Given the description of an element on the screen output the (x, y) to click on. 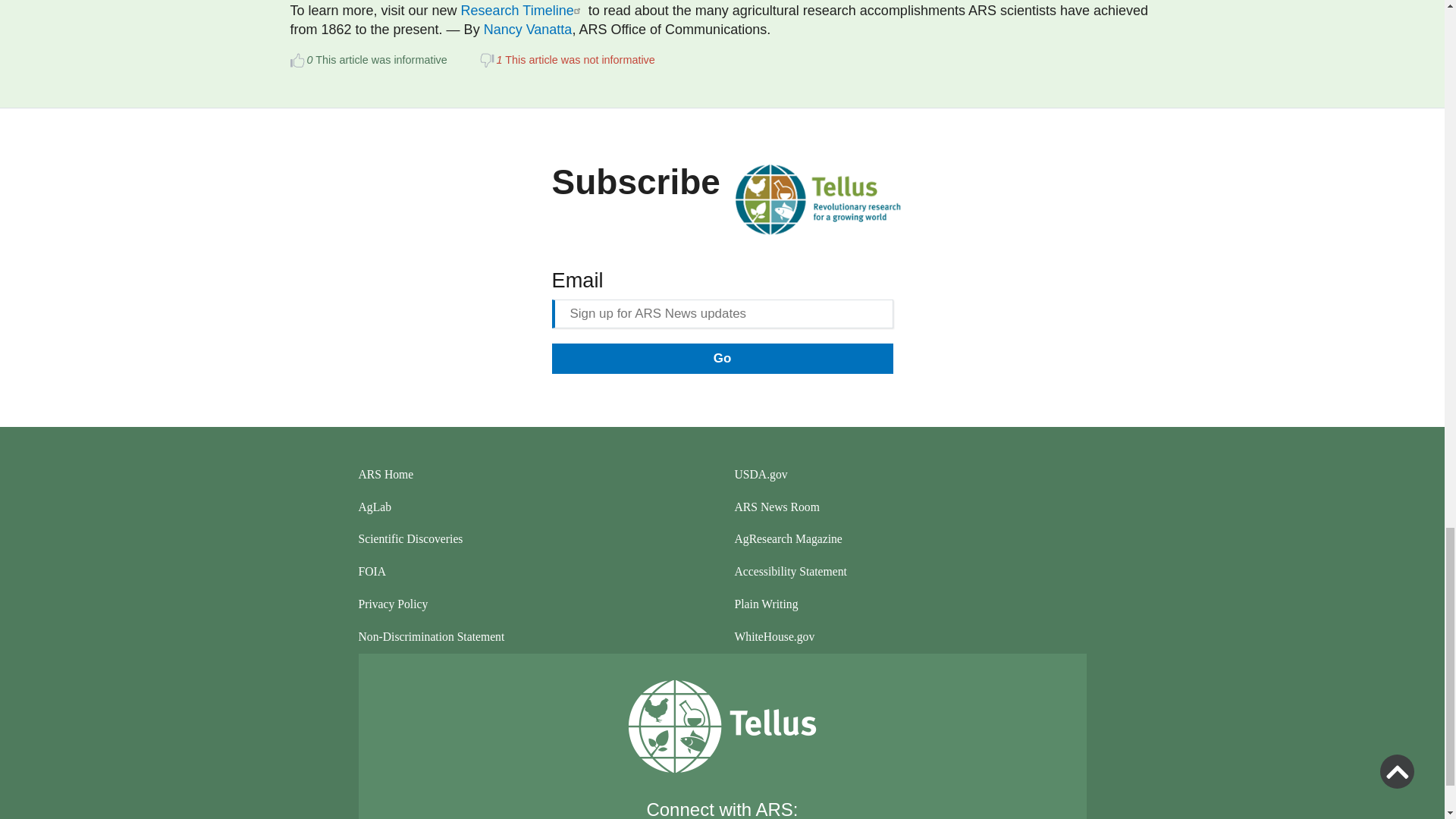
ARS News Room (909, 507)
0 This article was informative (296, 60)
Dislike (486, 60)
AgLab (534, 507)
1 This article was not informative (486, 60)
ARS Home (534, 474)
Like (296, 60)
Go (722, 358)
Go (722, 358)
USDA.gov (909, 474)
